Given the description of an element on the screen output the (x, y) to click on. 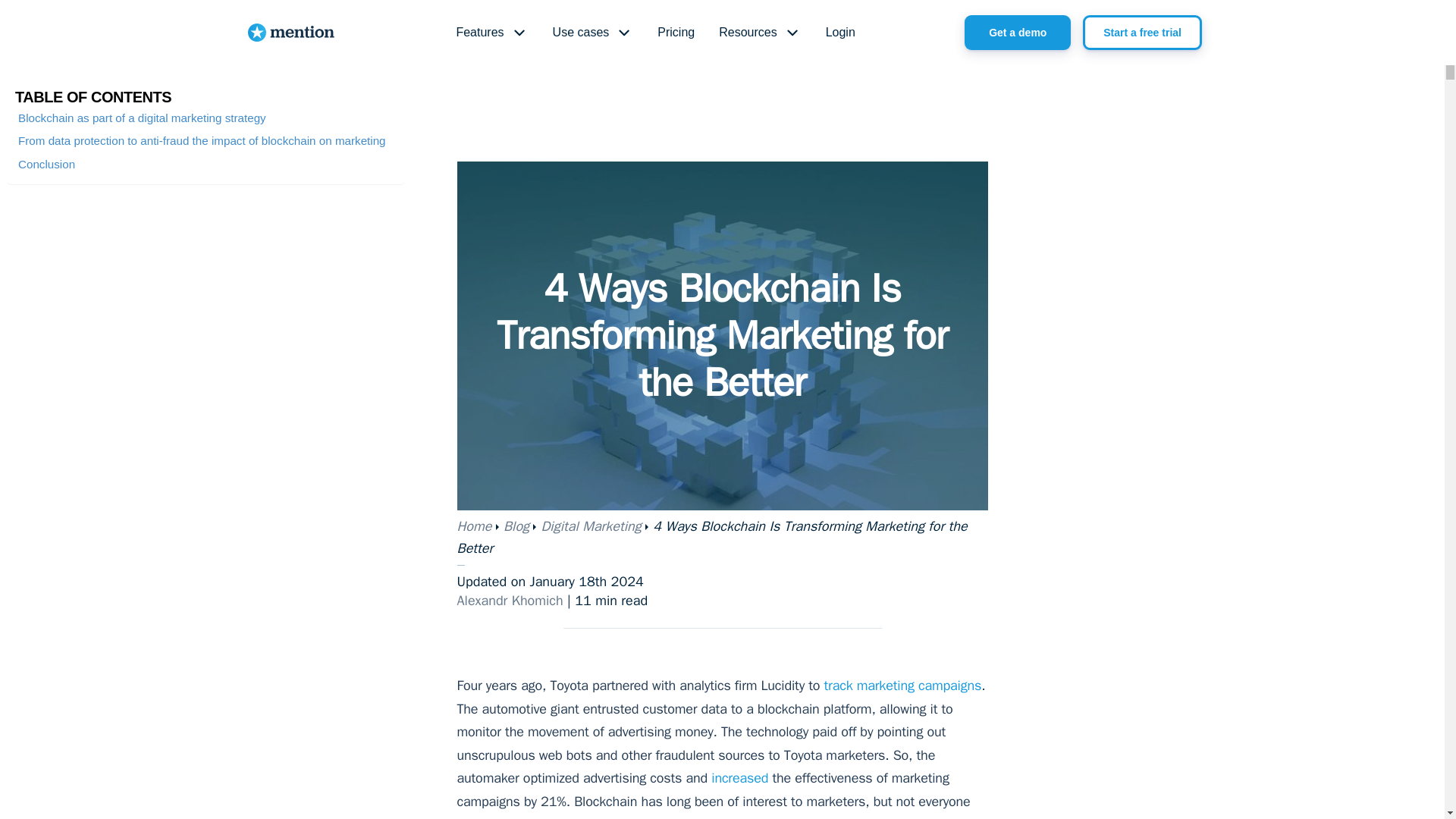
Pricing (675, 33)
Blockchain as part of a digital marketing strategy (141, 117)
Conclusion (46, 164)
